Given the description of an element on the screen output the (x, y) to click on. 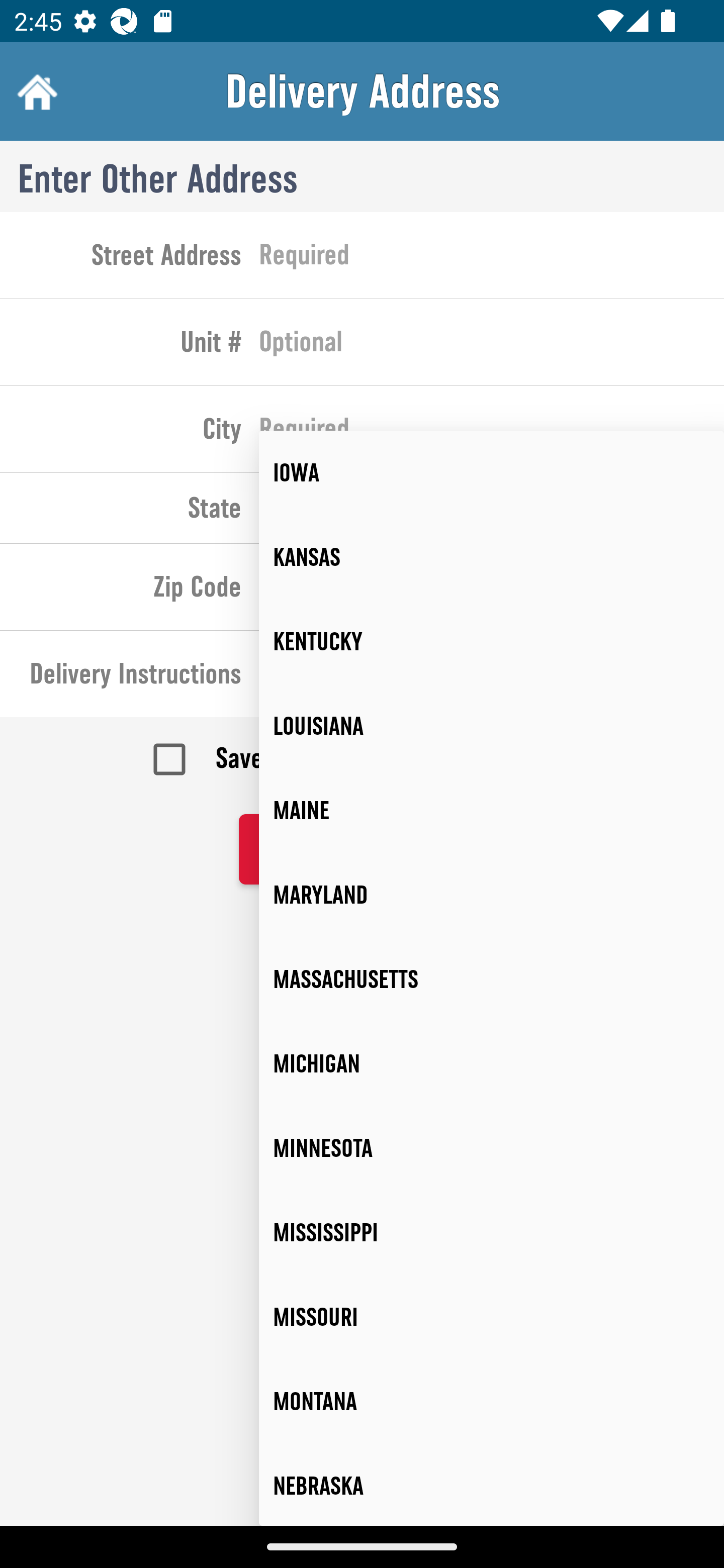
IOWA (491, 473)
KANSAS (491, 556)
KENTUCKY (491, 640)
LOUISIANA (491, 725)
MAINE (491, 810)
MARYLAND (491, 894)
MASSACHUSETTS (491, 979)
MICHIGAN (491, 1063)
MINNESOTA (491, 1147)
MISSISSIPPI (491, 1232)
MISSOURI (491, 1316)
MONTANA (491, 1401)
NEBRASKA (491, 1484)
